Given the description of an element on the screen output the (x, y) to click on. 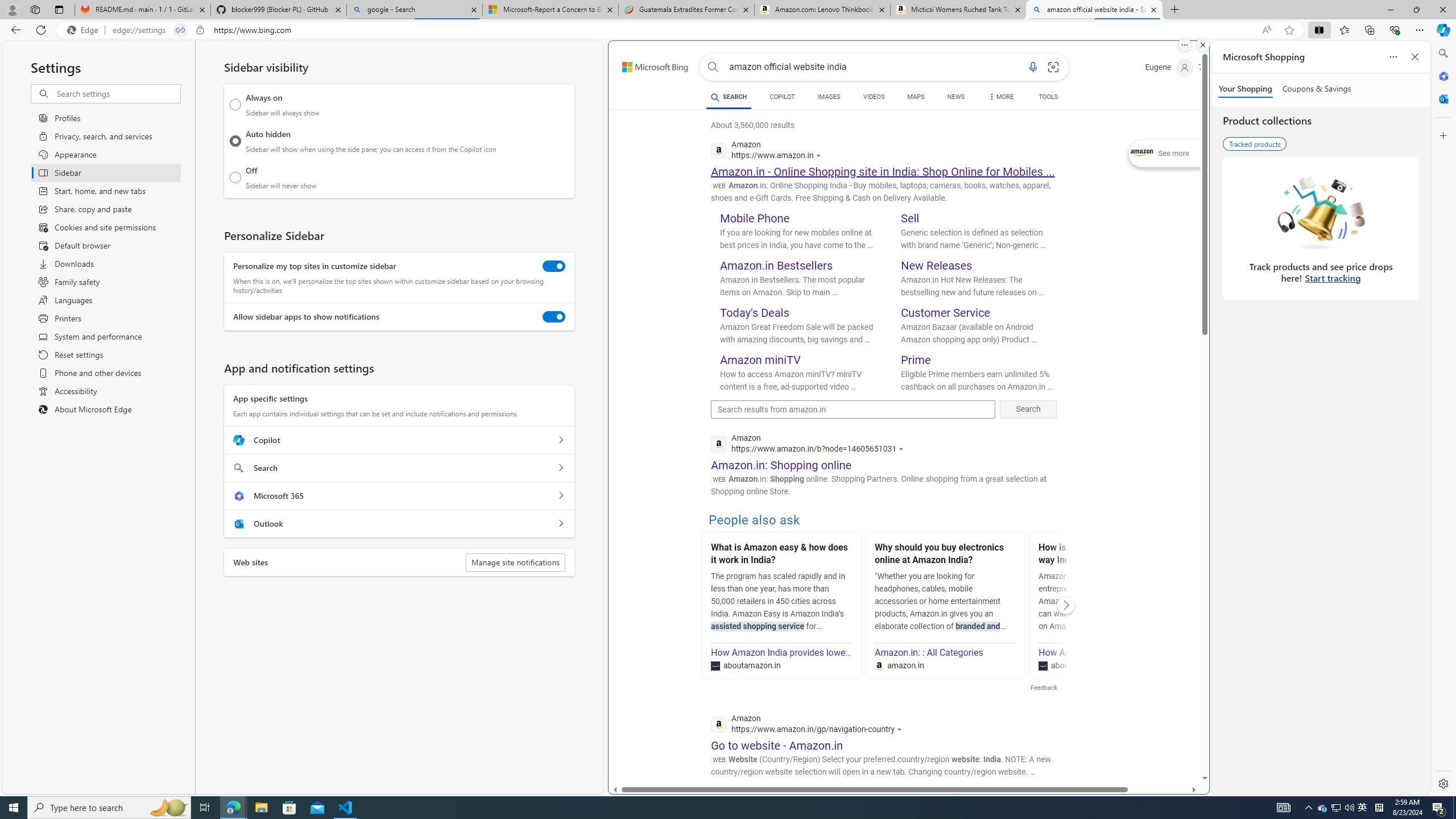
Eugene (1168, 67)
Allow sidebar apps to show notifications (553, 316)
Microsoft Rewards 72 (1214, 67)
Close split screen. (1202, 45)
Amazon.in Bestsellers (776, 265)
Amazon.in: Shopping online (780, 464)
Edge (84, 29)
SEARCH (728, 96)
